Given the description of an element on the screen output the (x, y) to click on. 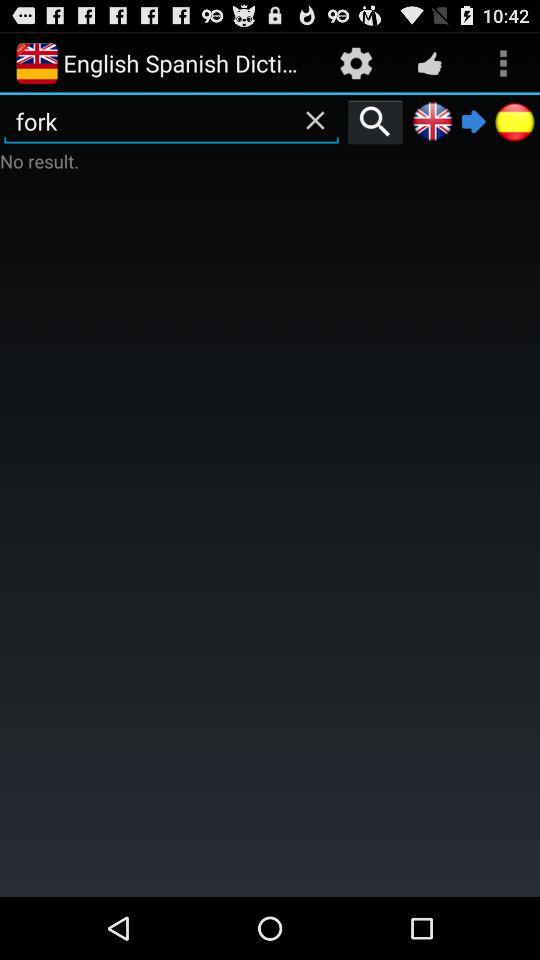
launch the fork (171, 121)
